Given the description of an element on the screen output the (x, y) to click on. 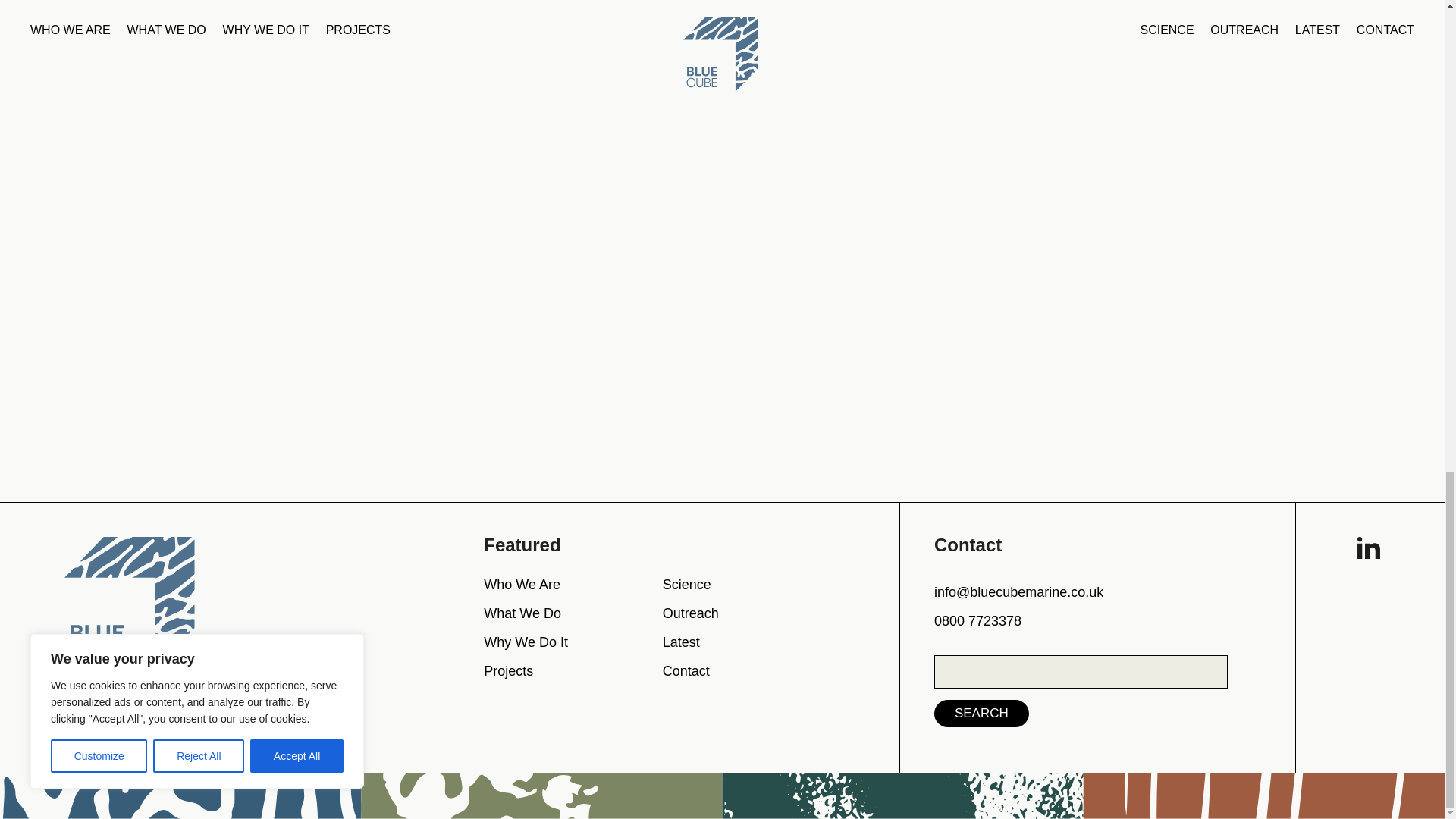
Search (981, 713)
